Given the description of an element on the screen output the (x, y) to click on. 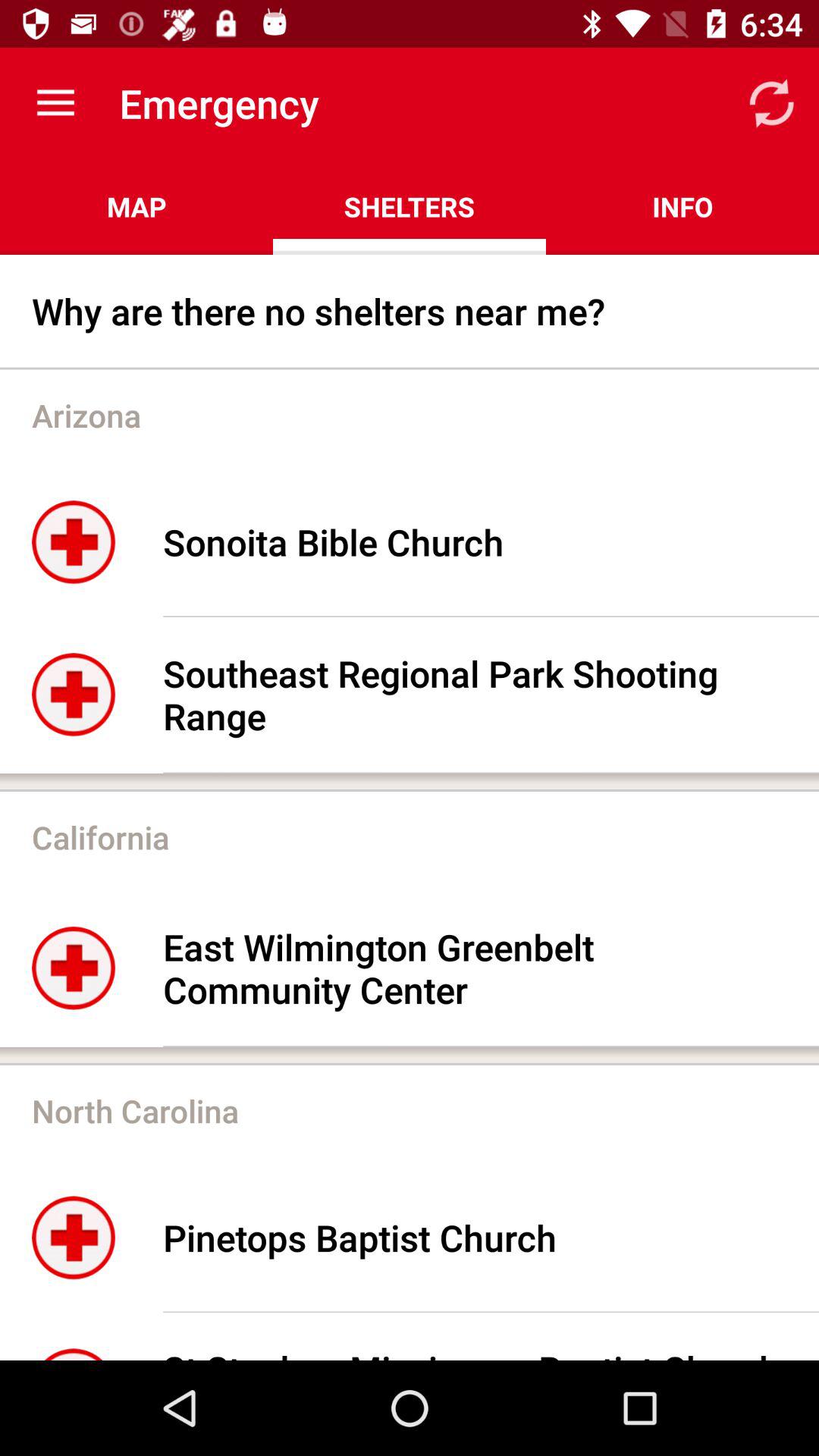
press item above the why are there icon (136, 206)
